Given the description of an element on the screen output the (x, y) to click on. 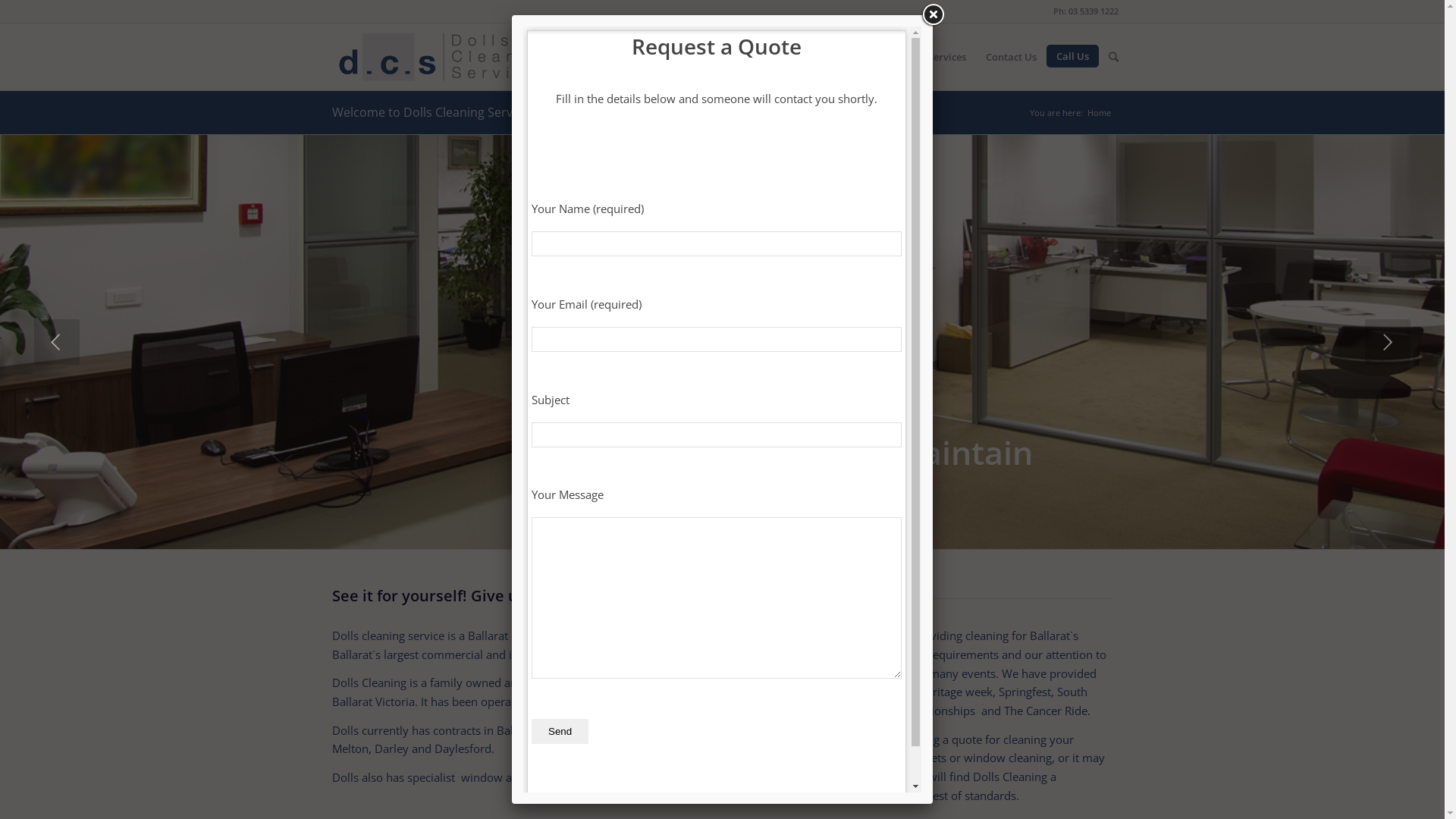
Welcome to Dolls Cleaning Service Element type: text (430, 111)
Call Us Element type: text (1072, 55)
Contact Us Element type: text (1010, 56)
Close Element type: hover (932, 14)
Send Element type: text (559, 730)
Home Element type: text (735, 56)
Services Element type: text (946, 56)
Occupational Health & Safety Element type: text (838, 56)
